Given the description of an element on the screen output the (x, y) to click on. 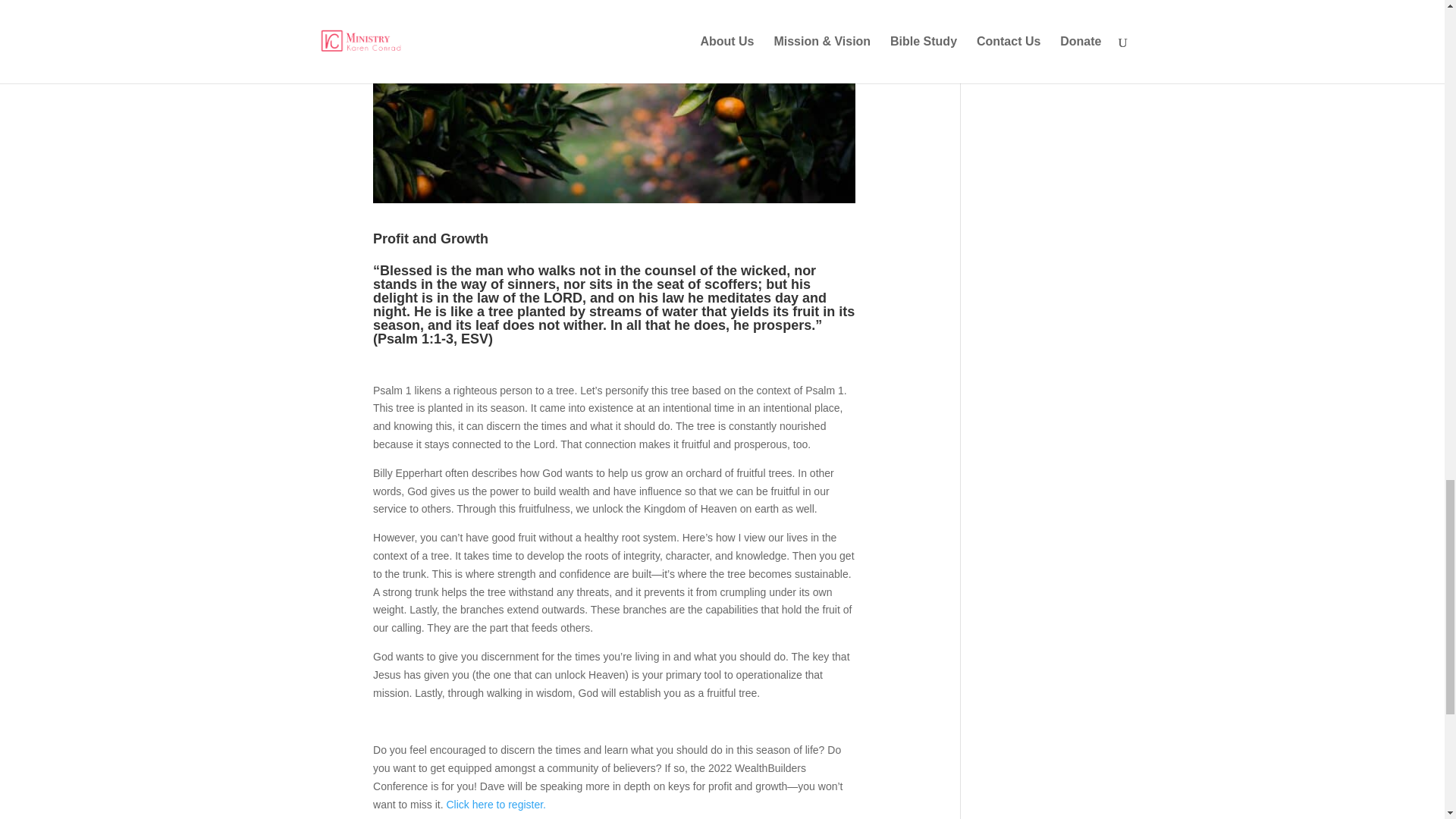
Click here to register. (495, 803)
victoria-chen-N6nnIx4C-Fo-unsplash-700x467 (614, 101)
